Given the description of an element on the screen output the (x, y) to click on. 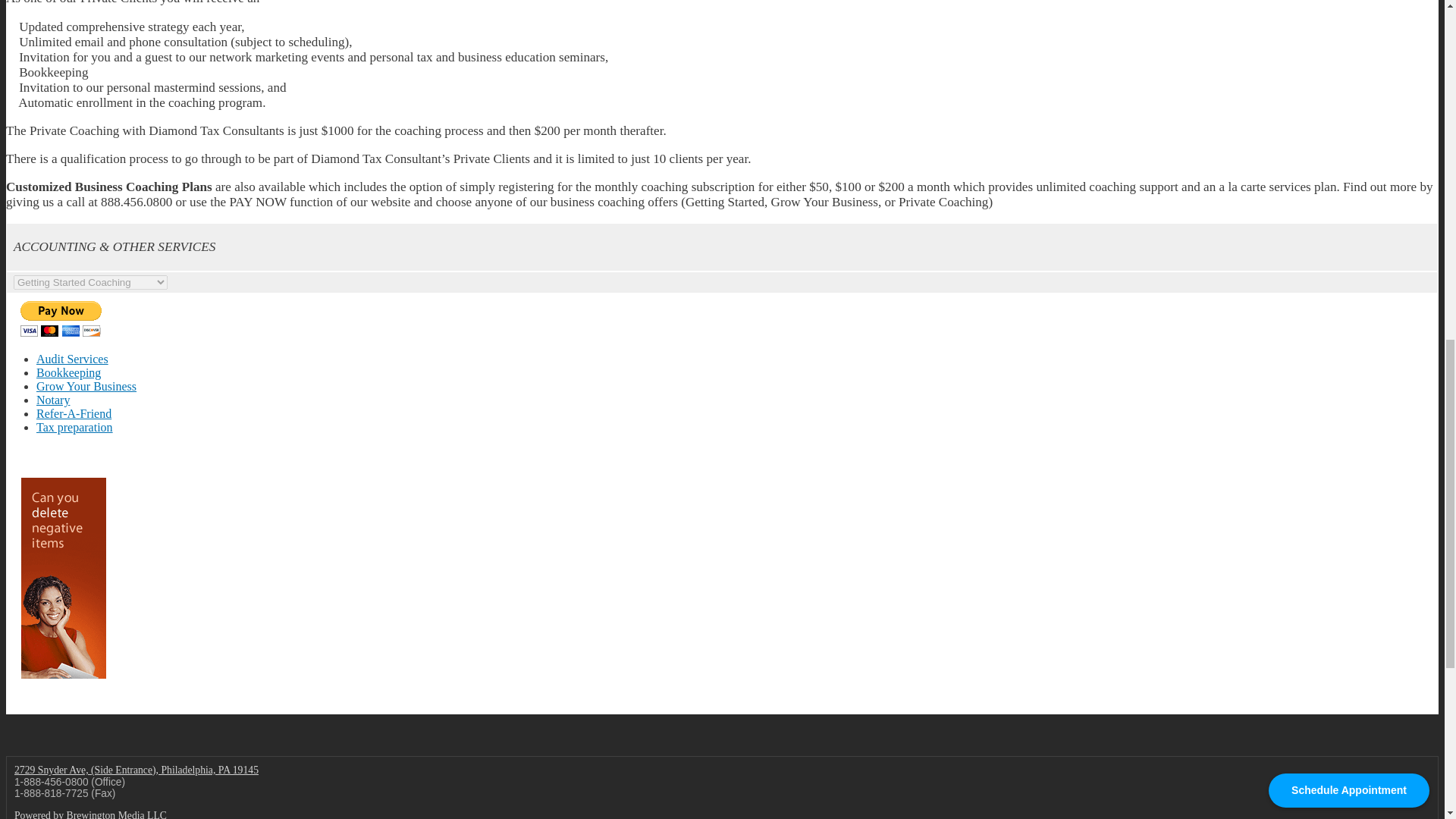
Tax preparation (74, 427)
Notary (52, 399)
Bookkeeping (68, 372)
Refer-A-Friend (74, 413)
Powered by Brewington Media LLC (90, 814)
Grow Your Business (86, 386)
Audit Services (71, 358)
